Given the description of an element on the screen output the (x, y) to click on. 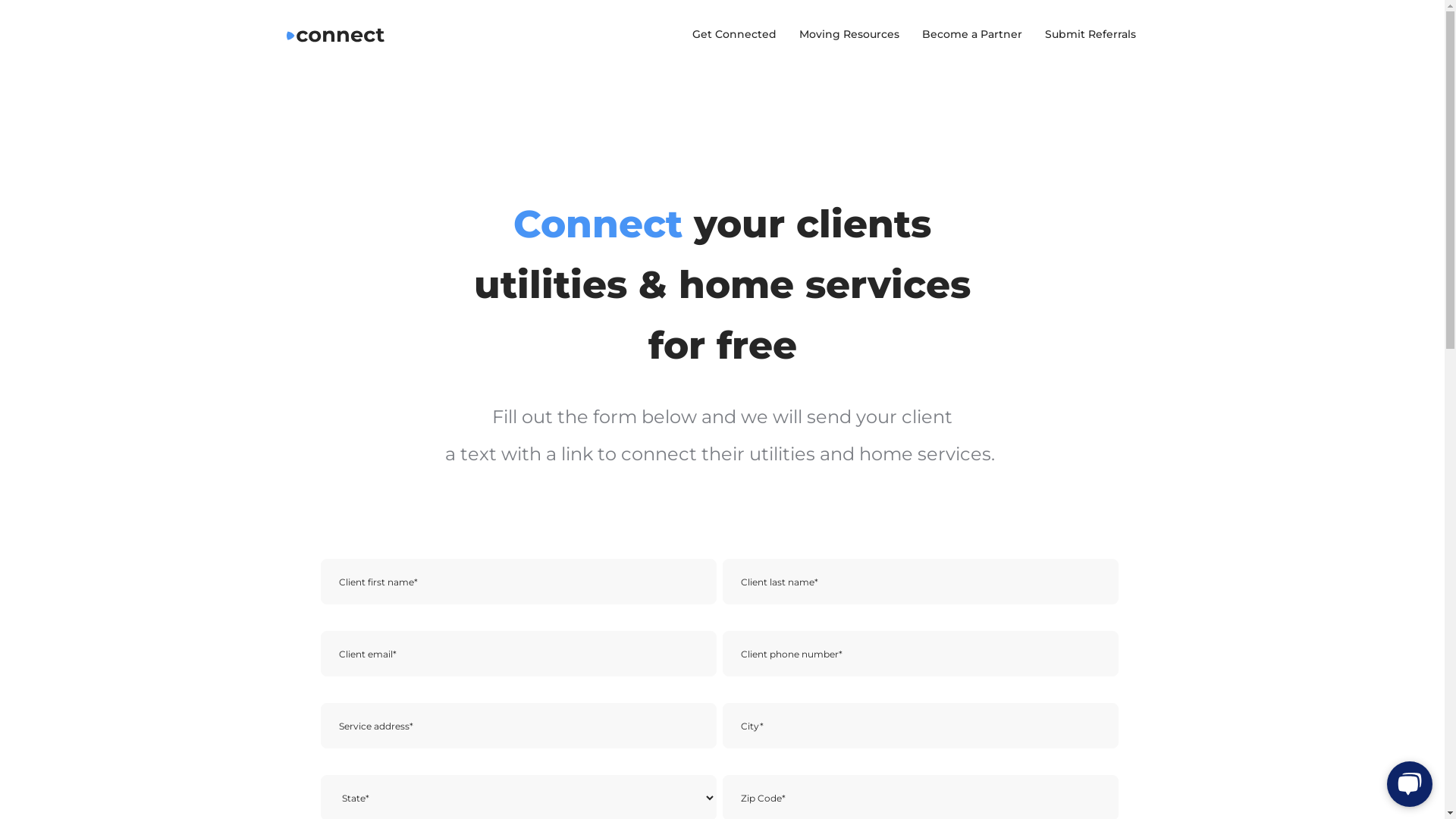
Submit Referrals Element type: text (1089, 34)
Become a Partner Element type: text (971, 34)
logo-connect Element type: hover (335, 35)
Moving Resources Element type: text (848, 34)
Get Connected Element type: text (733, 34)
